Given the description of an element on the screen output the (x, y) to click on. 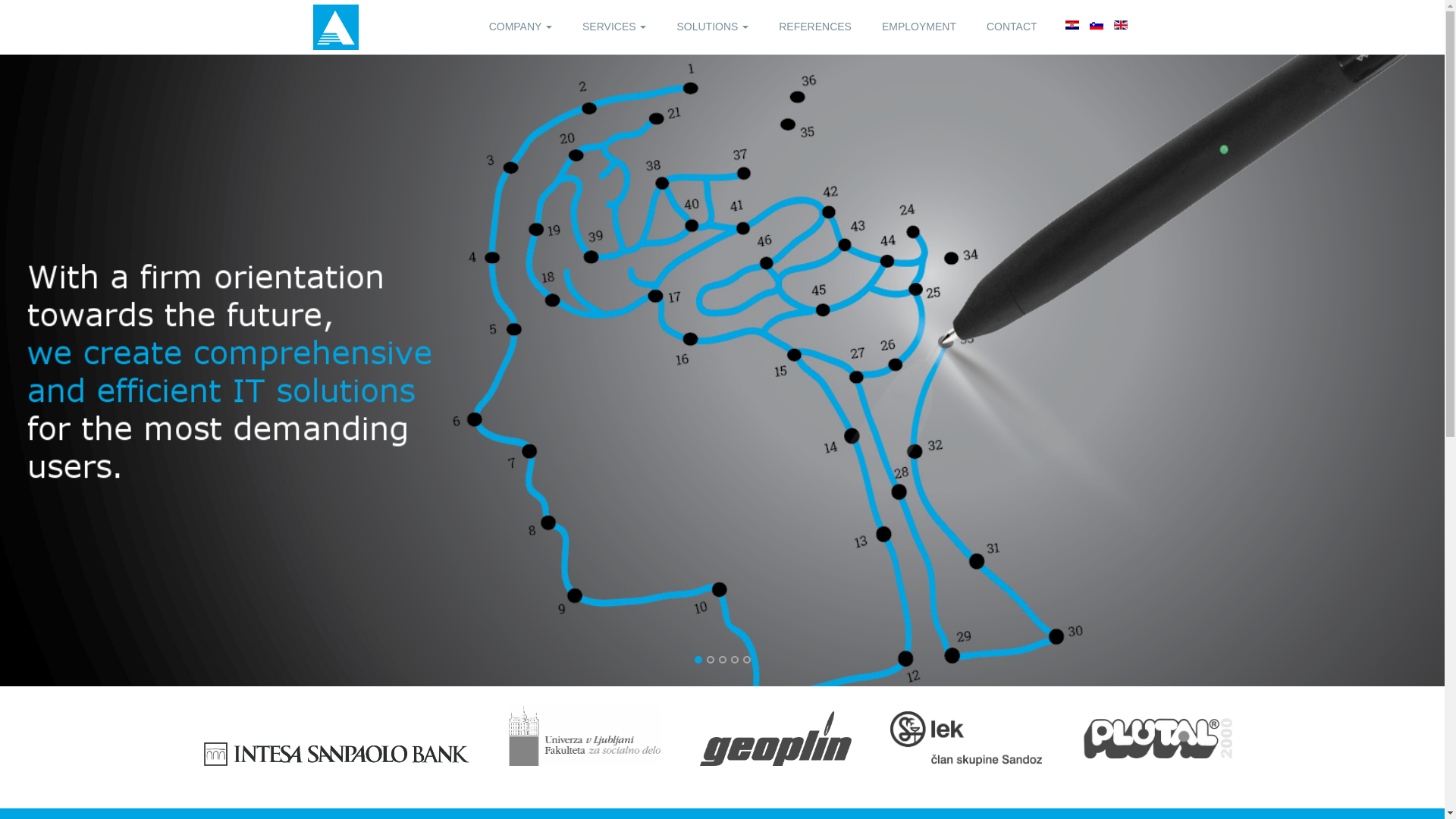
EMPLOYMENT (918, 26)
Hrvatski (1071, 24)
A-Soft (335, 26)
SERVICES (613, 26)
REFERENCES (815, 26)
SOLUTIONS (712, 26)
Slovenski (1096, 24)
COMPANY (520, 26)
CONTACT (1011, 26)
